Given the description of an element on the screen output the (x, y) to click on. 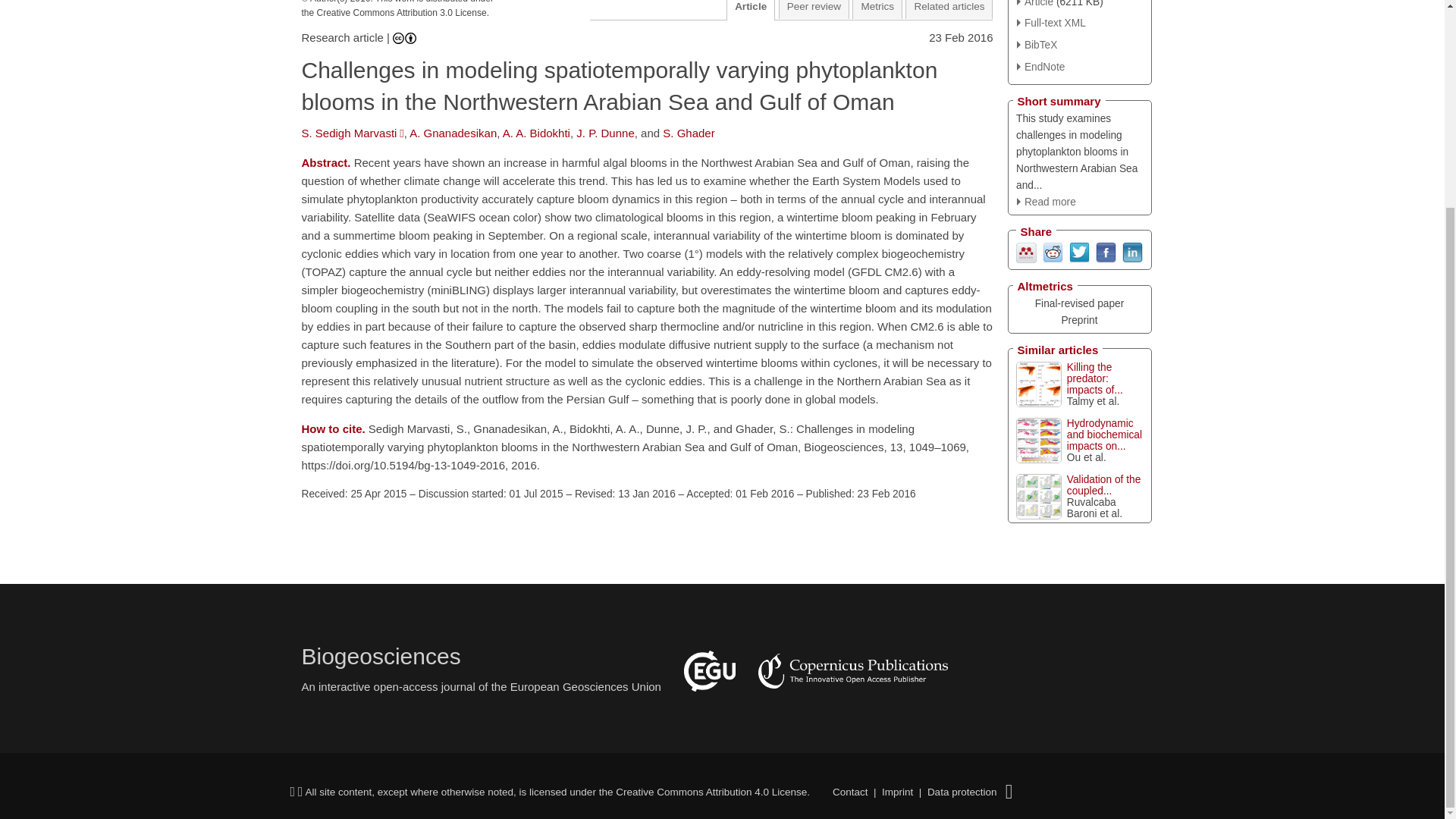
Mendeley (1026, 251)
Facebook (1104, 251)
Reddit (1052, 251)
Twitter (1078, 251)
XML Version (1051, 22)
